Given the description of an element on the screen output the (x, y) to click on. 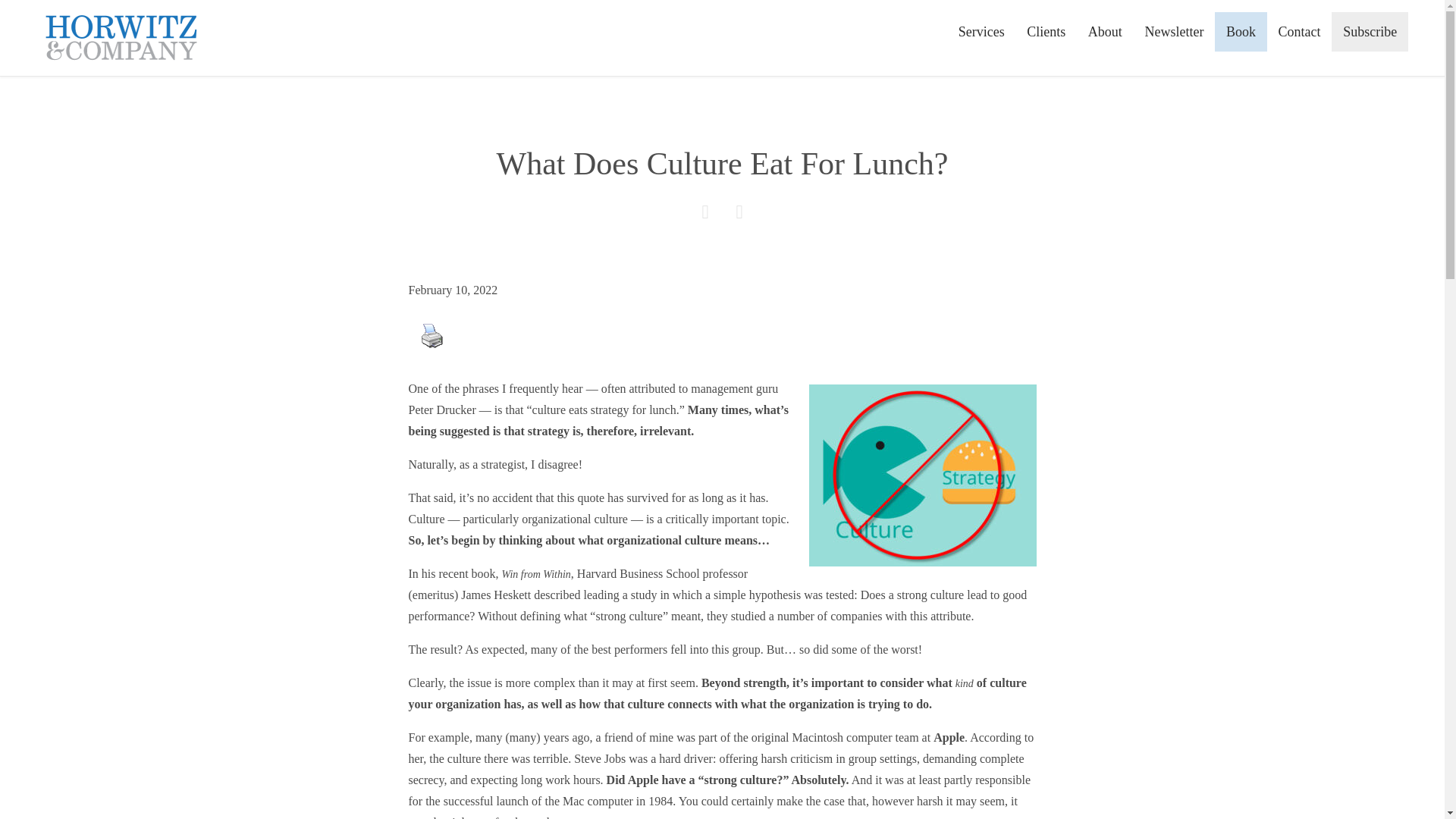
Contact (1299, 32)
Clients (1045, 32)
Subscribe (1370, 32)
About (1105, 32)
Newsletter (1174, 32)
Services (981, 32)
Book (1240, 32)
